Given the description of an element on the screen output the (x, y) to click on. 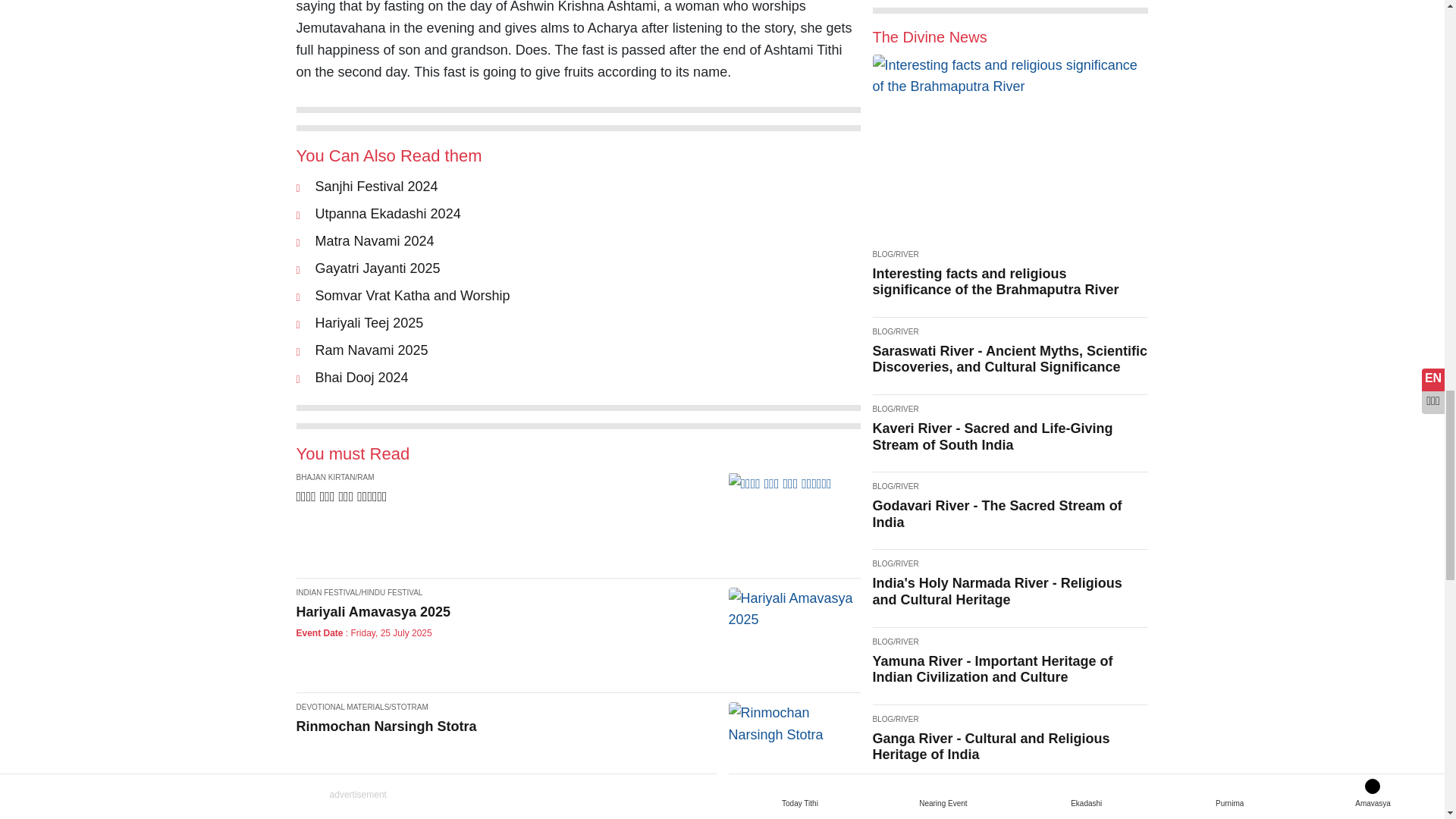
Ram Navami 2025 (371, 350)
Rinmochan Narsingh Stotra (794, 723)
Sanjhi Festival 2024 (376, 186)
Rinmochan Narsingh Stotra (577, 747)
Hariyali Amavasya 2025 (577, 634)
Ram Navami 2025 (371, 350)
Matra Navami 2024 (374, 240)
Hariyali Teej 2025 (369, 322)
Hariyali Amavasya 2025 (794, 609)
